Given the description of an element on the screen output the (x, y) to click on. 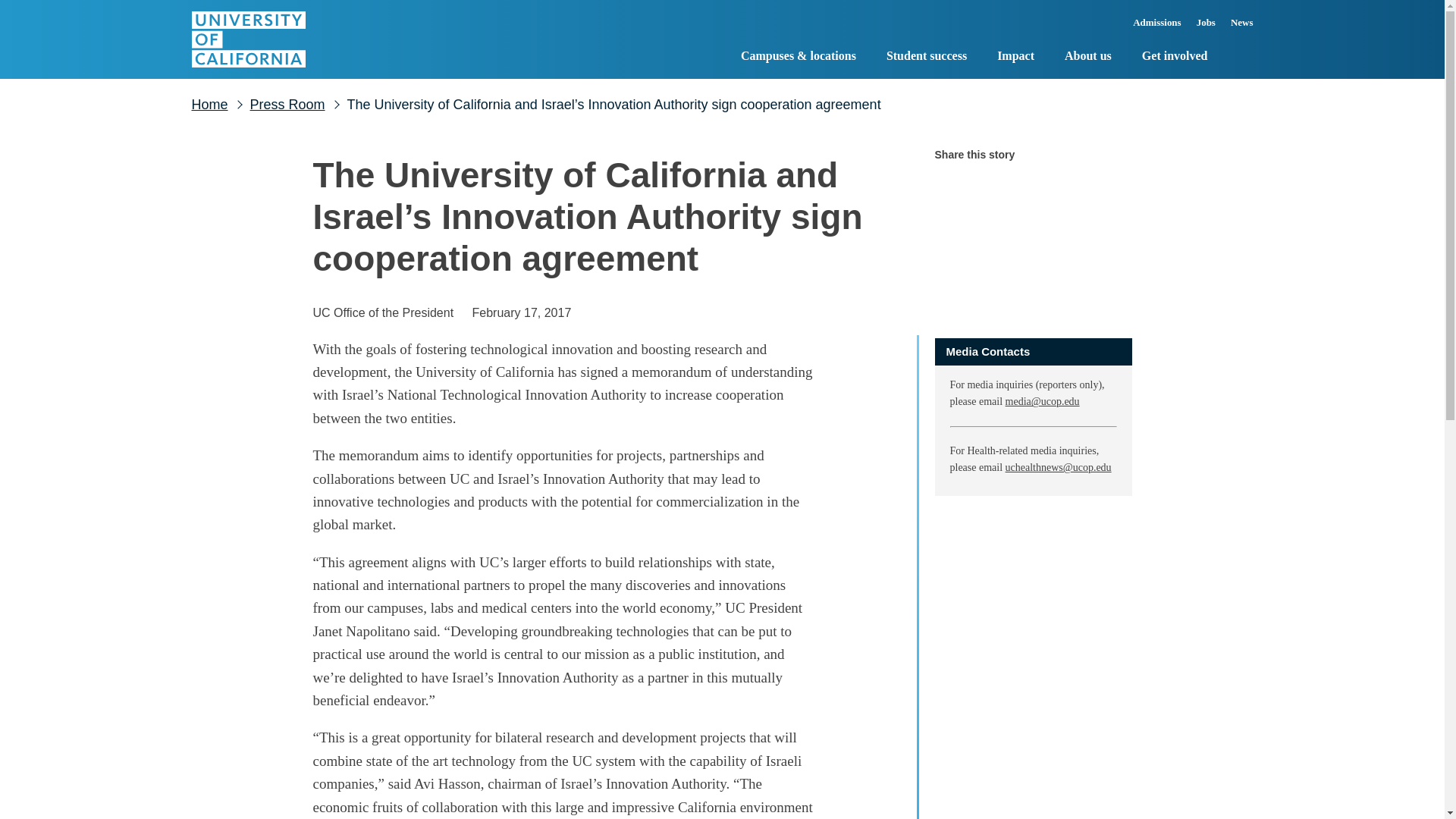
Impact (1015, 58)
Search (1241, 56)
Jobs (1206, 26)
Search (1241, 56)
Admissions (1157, 26)
Student success (926, 58)
Get involved (1174, 58)
Jobs (1206, 26)
News (1238, 26)
